Given the description of an element on the screen output the (x, y) to click on. 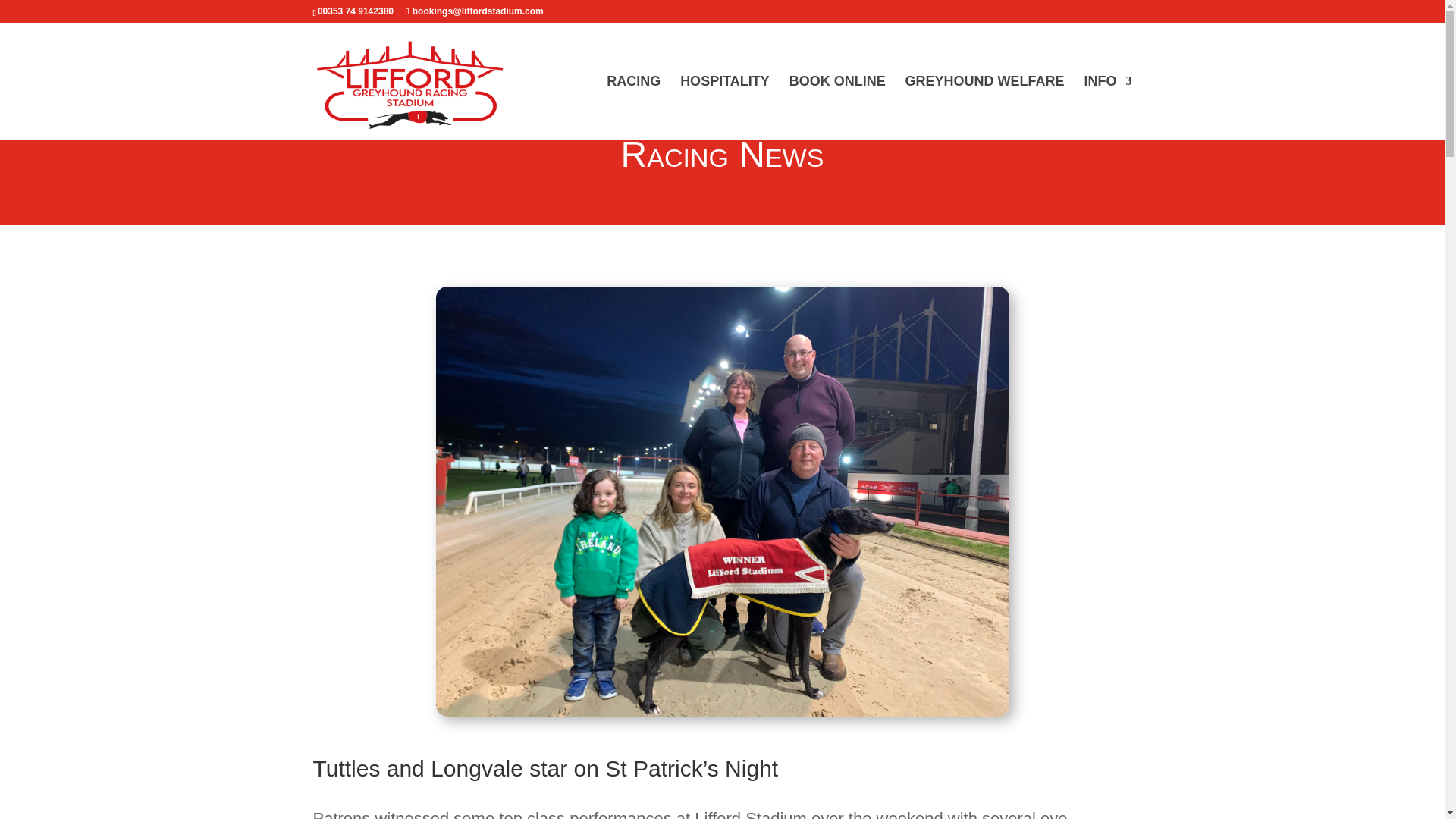
GREYHOUND WELFARE (984, 107)
BOOK ONLINE (837, 107)
HOSPITALITY (724, 107)
